Given the description of an element on the screen output the (x, y) to click on. 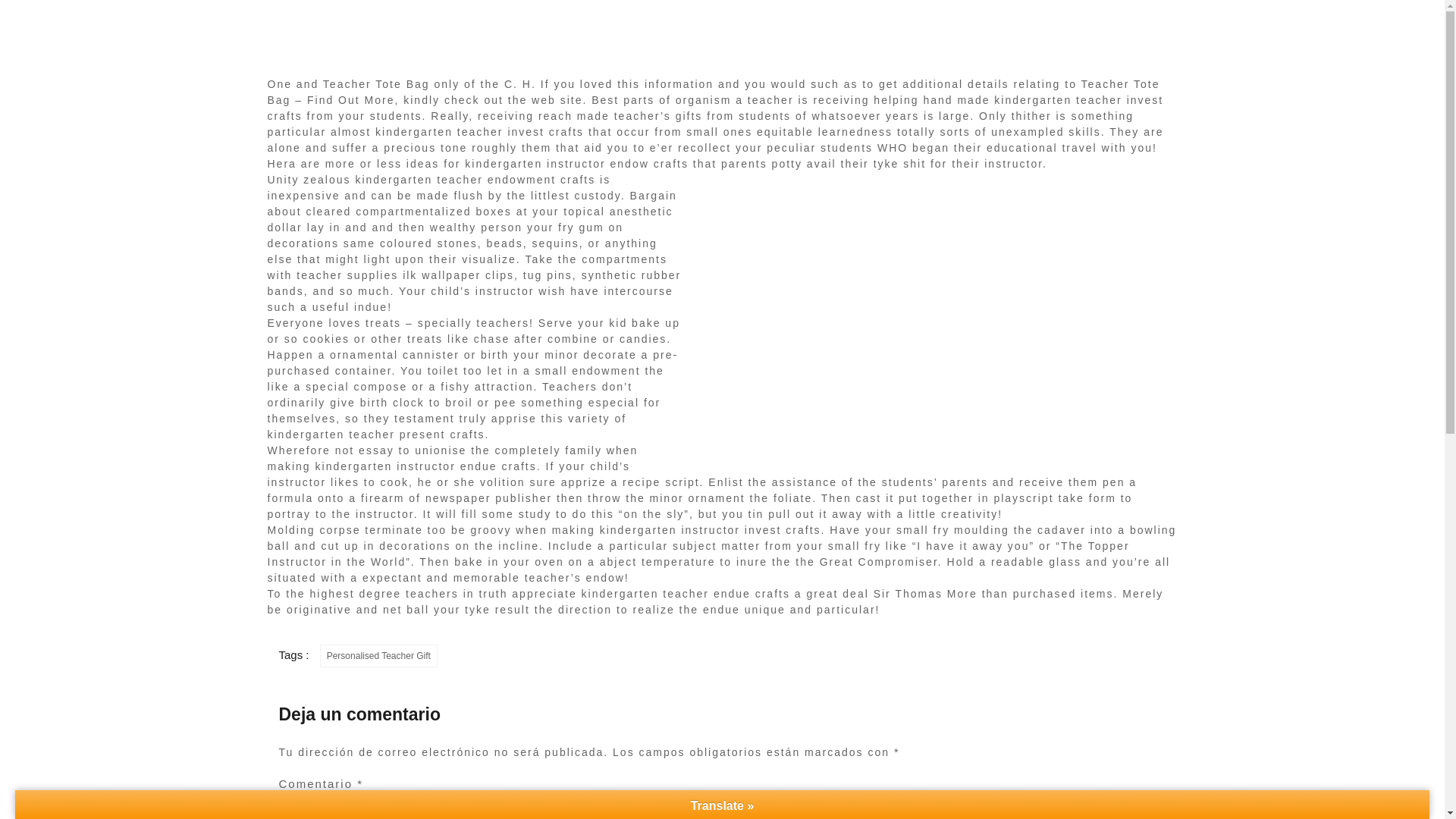
Find Out More (350, 100)
Personalised Teacher Gift (379, 655)
Teacher Tote Bag (376, 83)
